Given the description of an element on the screen output the (x, y) to click on. 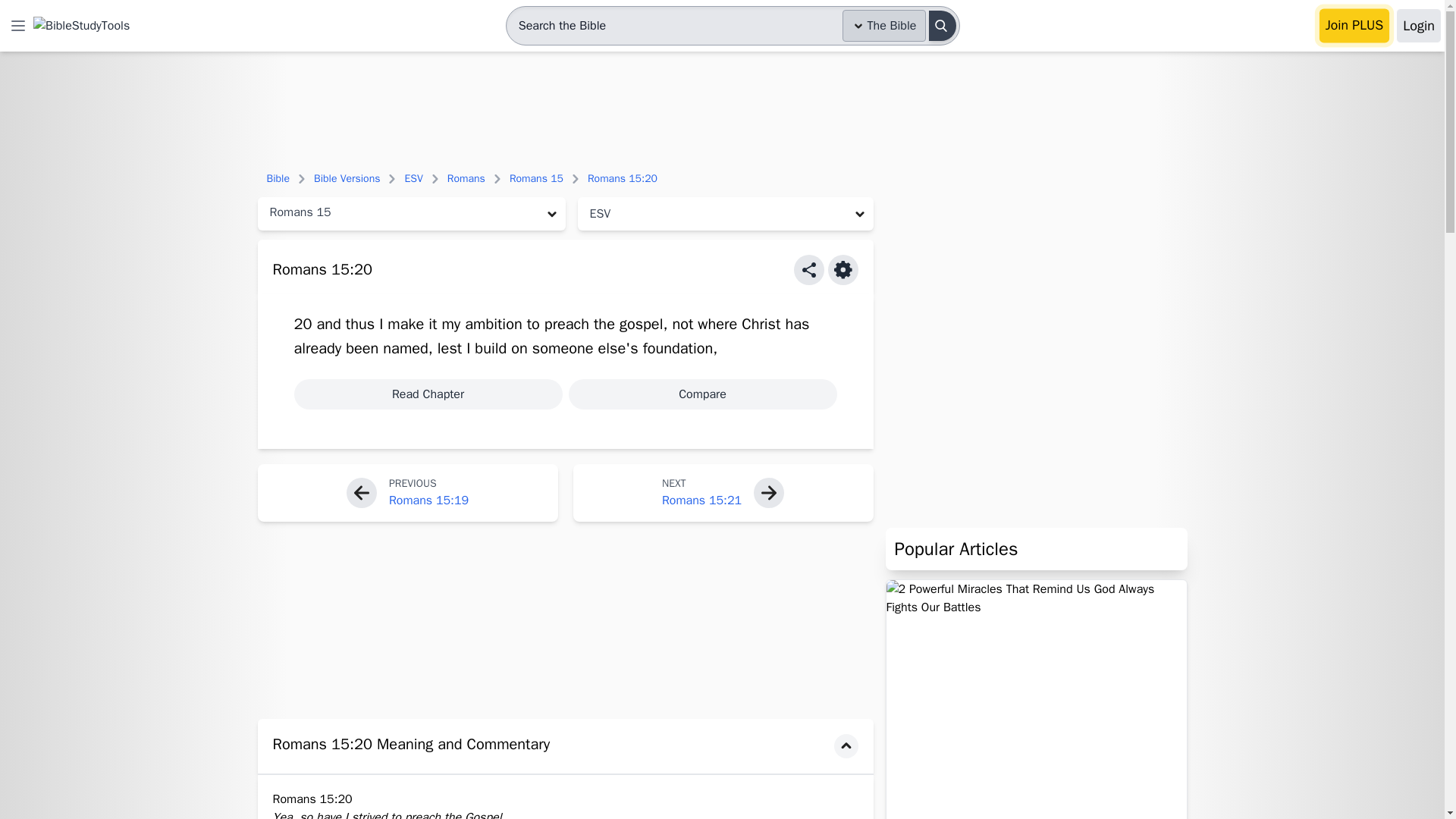
Login (1418, 25)
The Bible (884, 25)
Scripture Settings (843, 269)
Join PLUS (1354, 25)
